Given the description of an element on the screen output the (x, y) to click on. 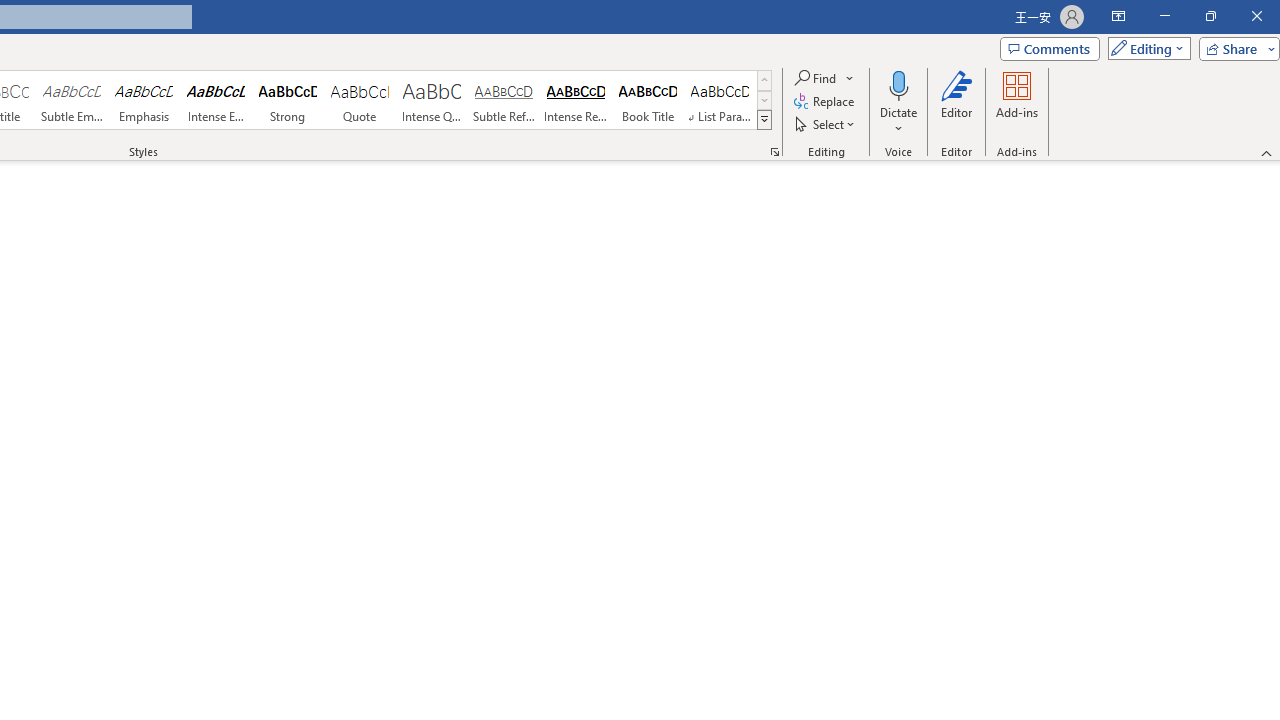
Quote (359, 100)
Intense Emphasis (216, 100)
Emphasis (143, 100)
Intense Reference (575, 100)
Subtle Reference (504, 100)
